Given the description of an element on the screen output the (x, y) to click on. 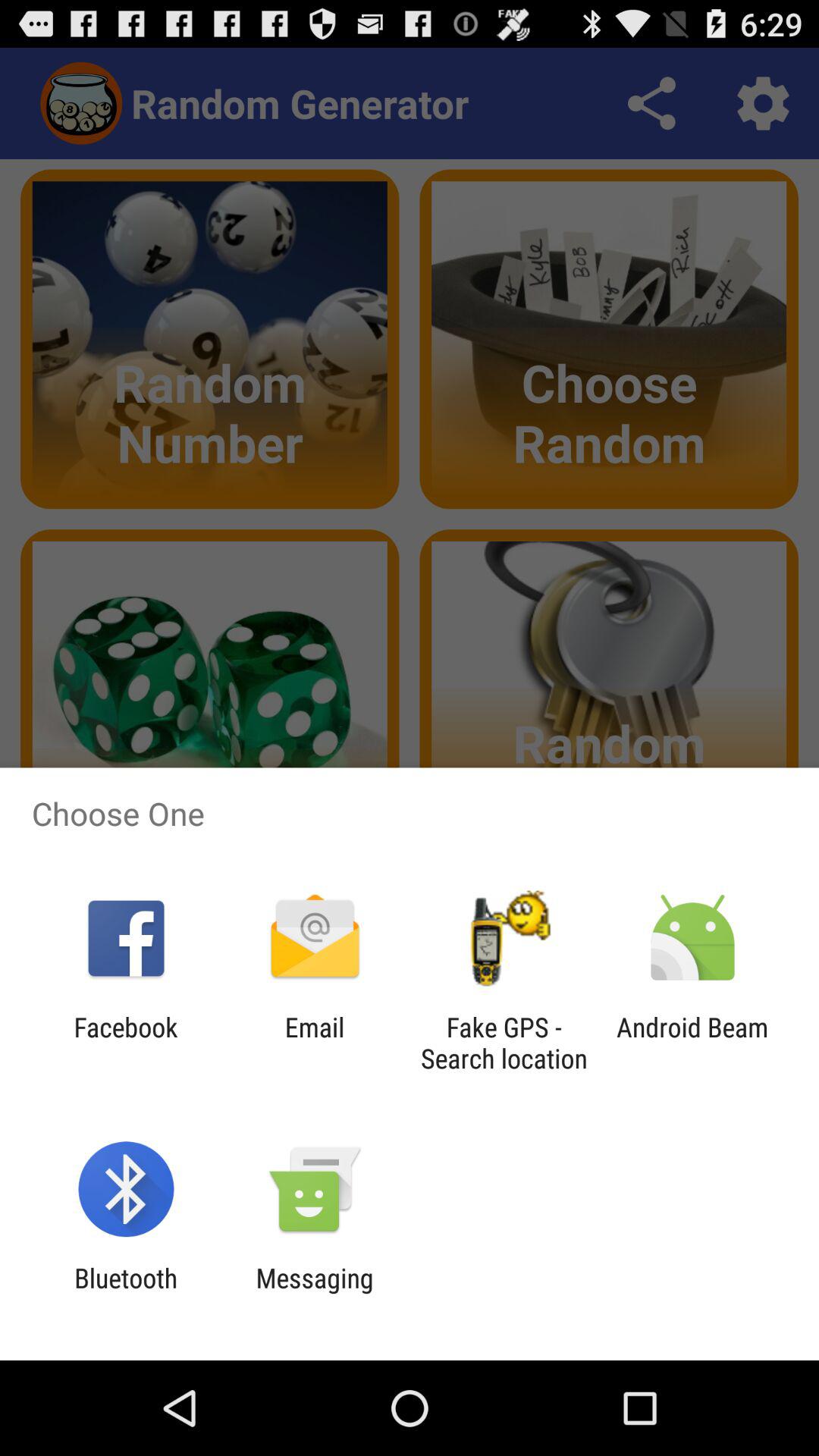
launch icon to the right of fake gps search icon (692, 1042)
